Given the description of an element on the screen output the (x, y) to click on. 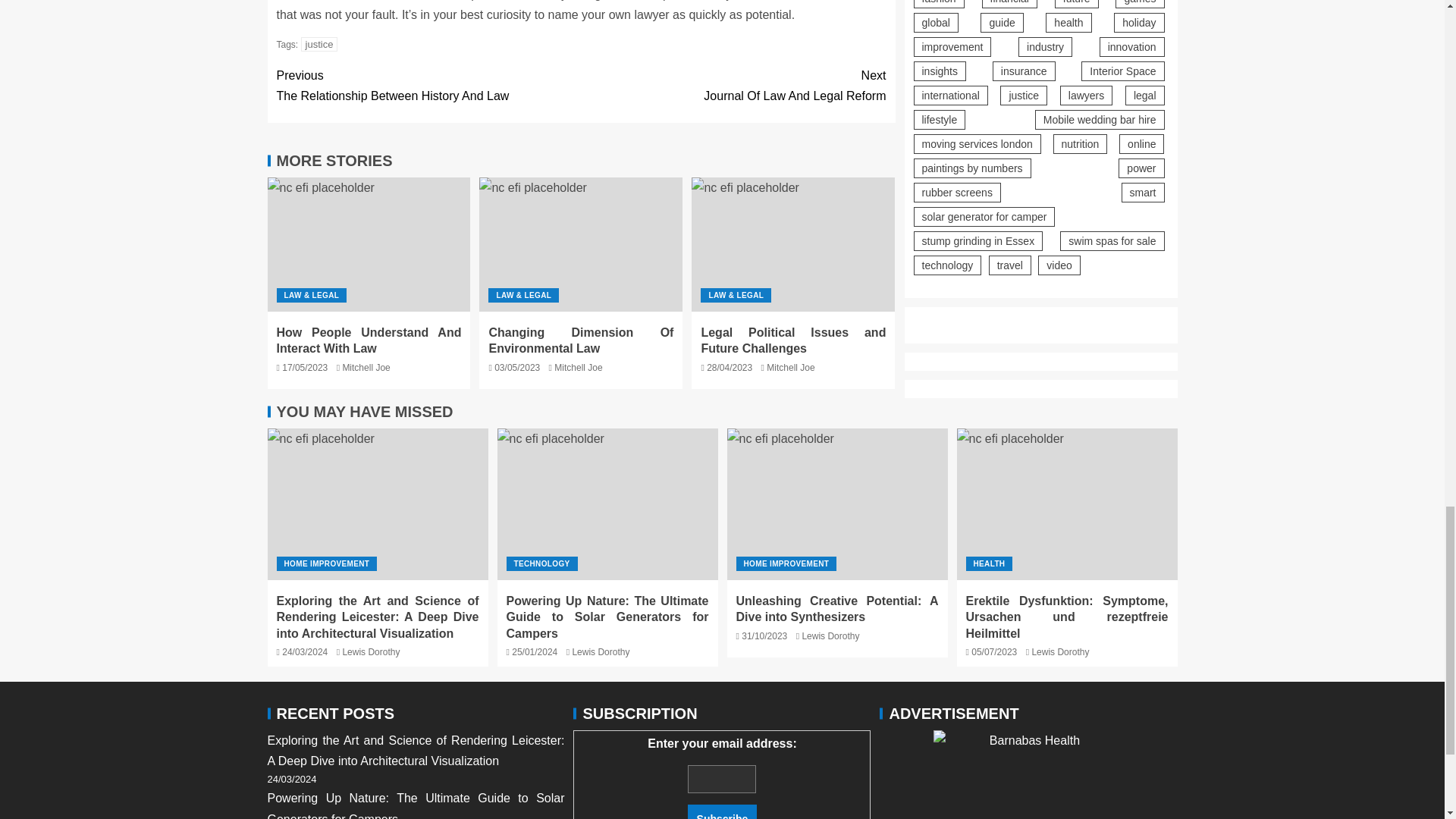
Changing Dimension Of Environmental Law (579, 339)
Changing Dimension Of Environmental Law (580, 244)
Legal Political Issues and Future Challenges (732, 85)
Mitchell Joe (793, 244)
justice (428, 85)
Subscribe (366, 367)
How People Understand And Interact With Law (319, 43)
How People Understand And Interact With Law (722, 811)
